Given the description of an element on the screen output the (x, y) to click on. 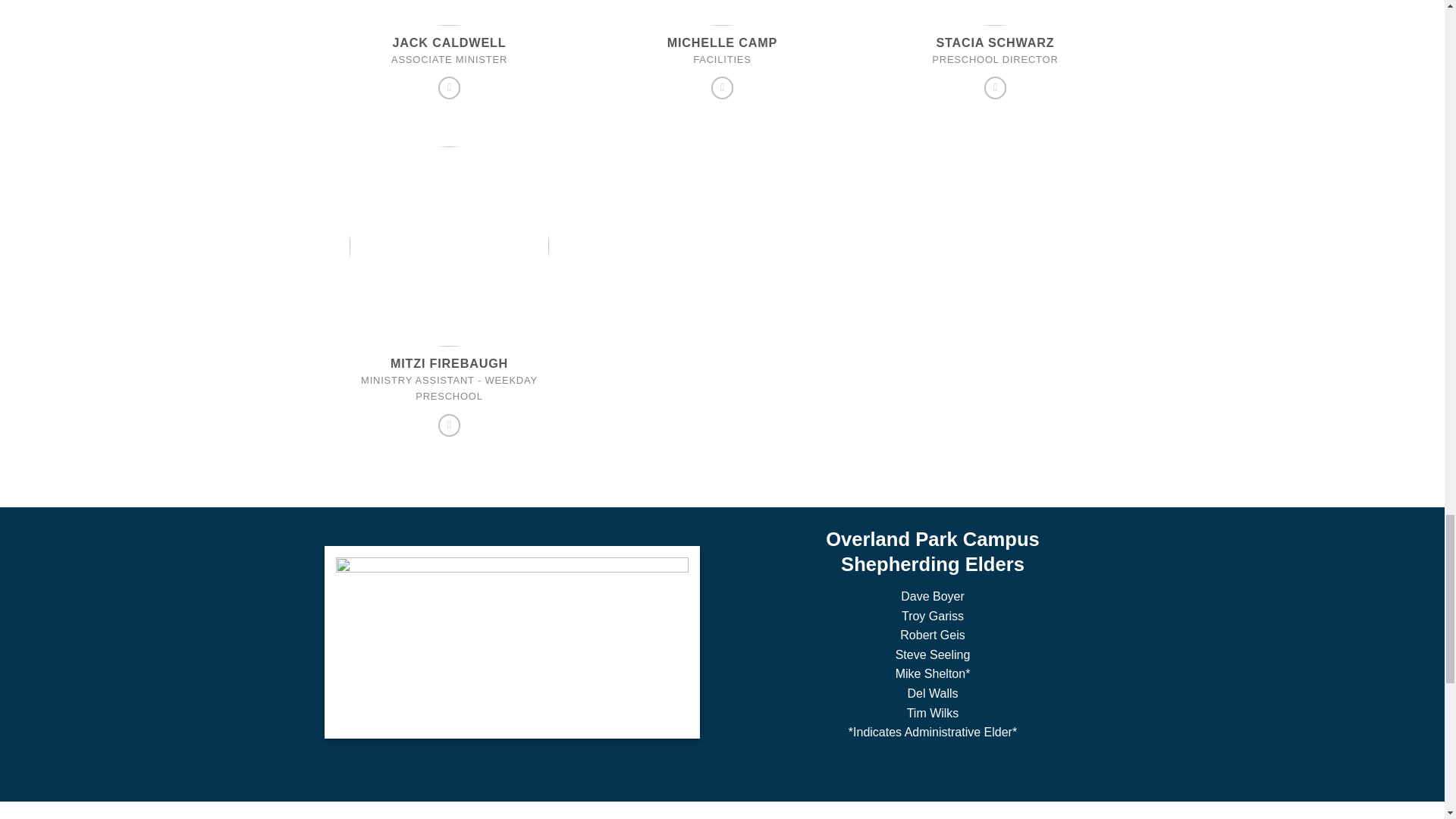
Send us an email (449, 425)
Send us an email (995, 87)
Send us an email (449, 87)
Send us an email (722, 87)
